Given the description of an element on the screen output the (x, y) to click on. 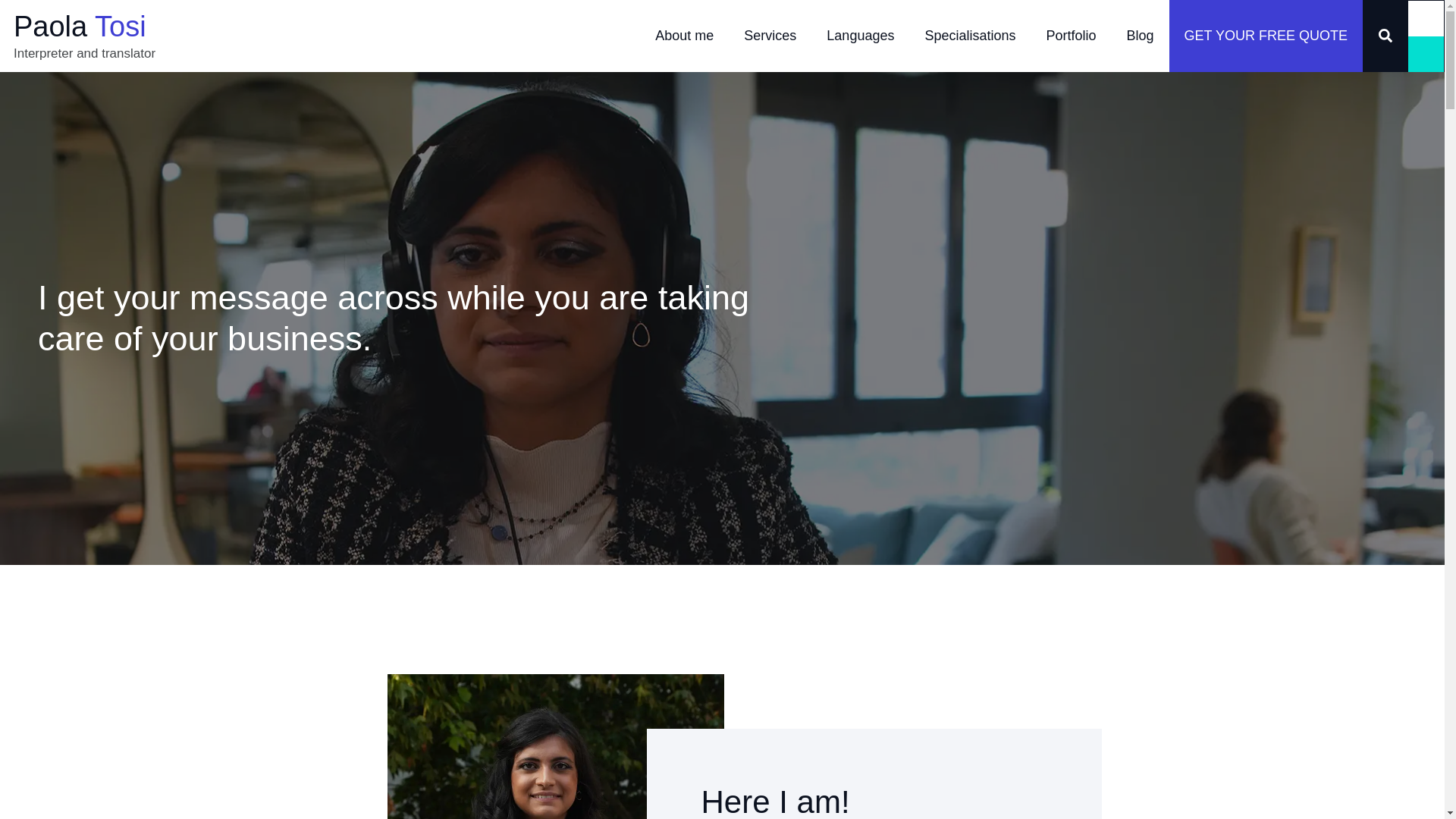
About me (684, 36)
Services (769, 36)
Languages (859, 36)
GET YOUR FREE QUOTE (1265, 36)
Paola Tosi (80, 26)
Specialisations (969, 36)
Portfolio (1071, 36)
